Given the description of an element on the screen output the (x, y) to click on. 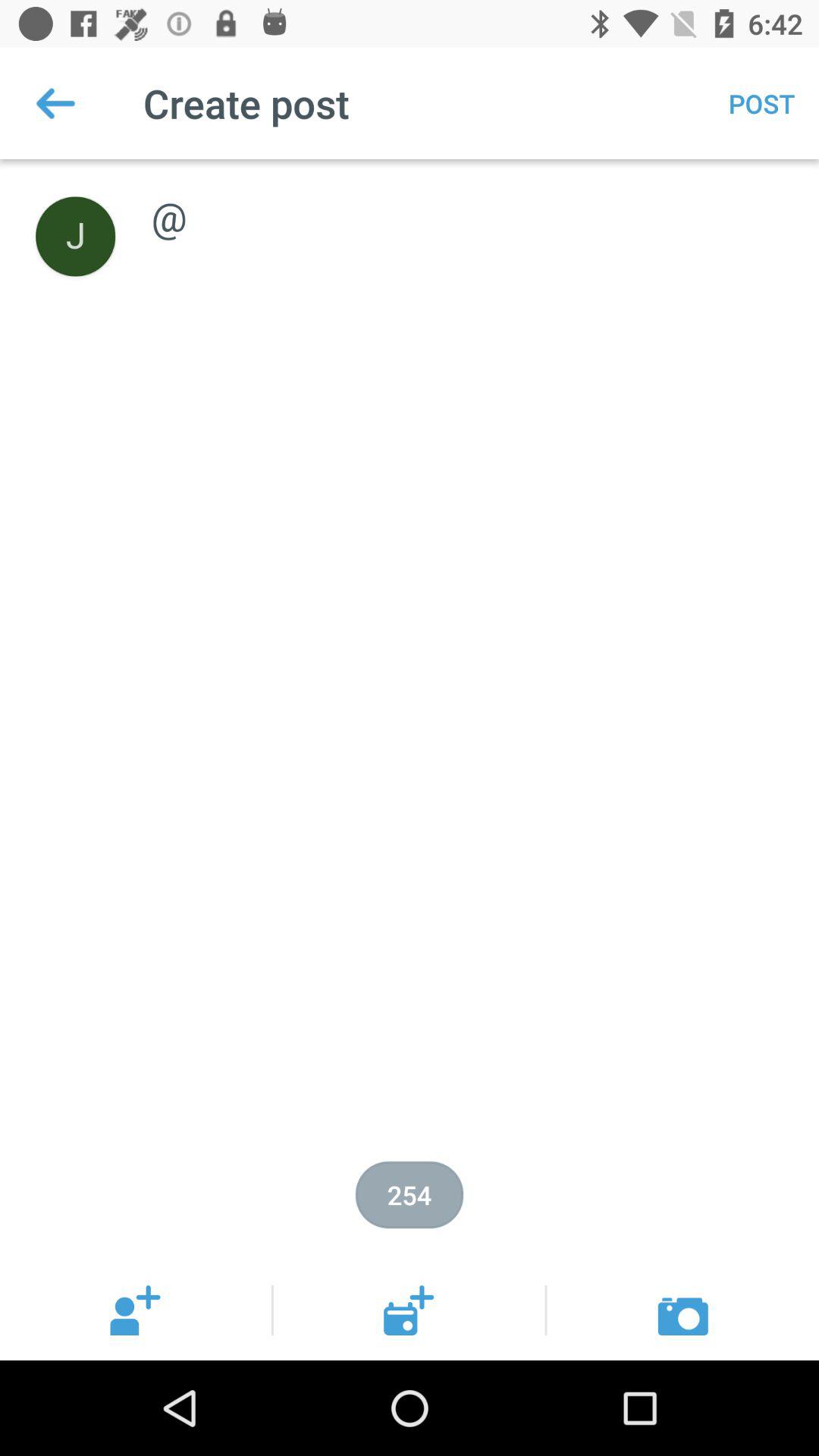
launch icon below post (469, 200)
